Given the description of an element on the screen output the (x, y) to click on. 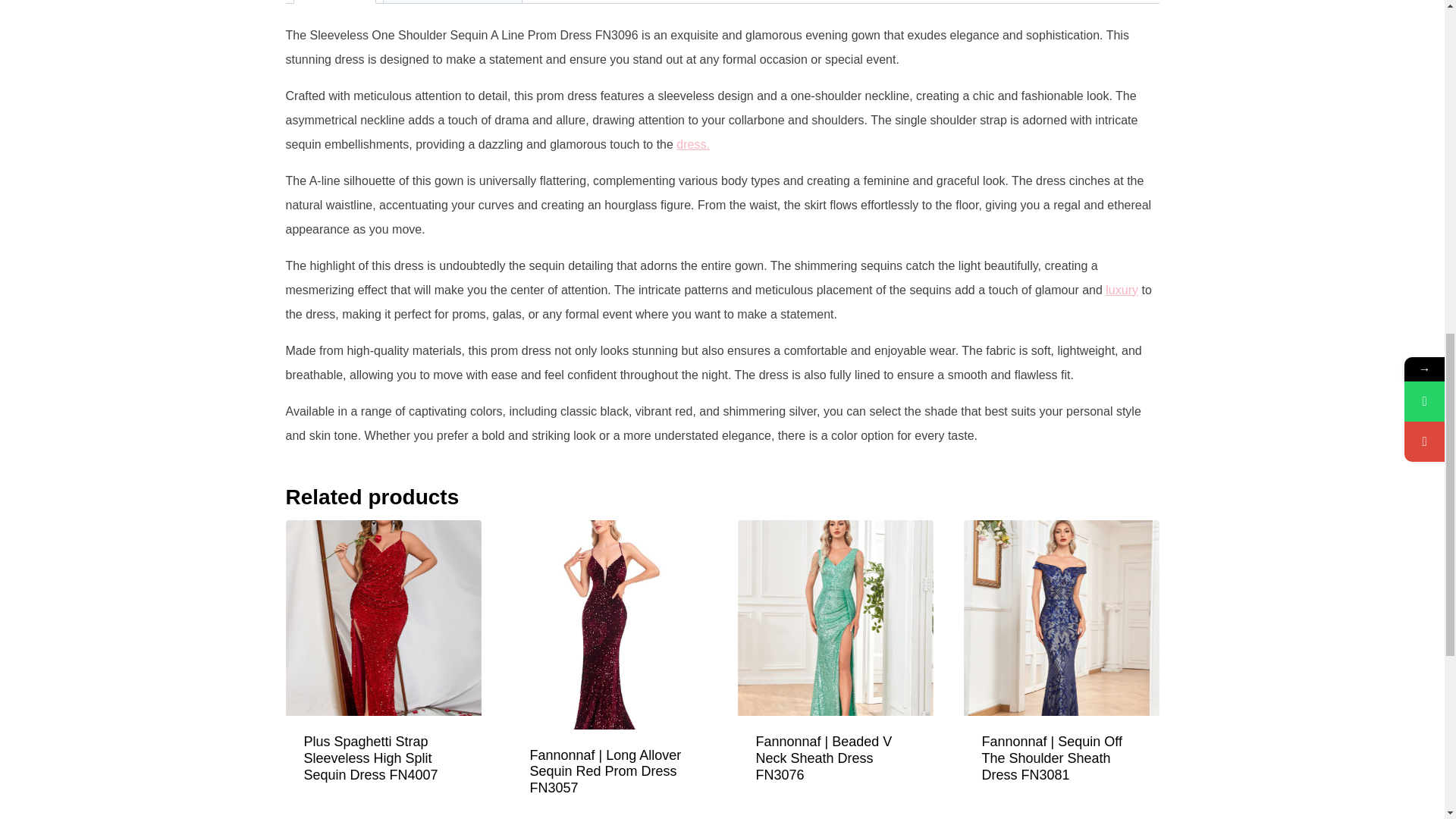
AD5I4587.jpg (834, 617)
AD5I0739.jpg (608, 624)
f1c3df9095ca8ef3907e437908d2610a.jpg (382, 617)
AD5I6052.jpg (1060, 617)
